Given the description of an element on the screen output the (x, y) to click on. 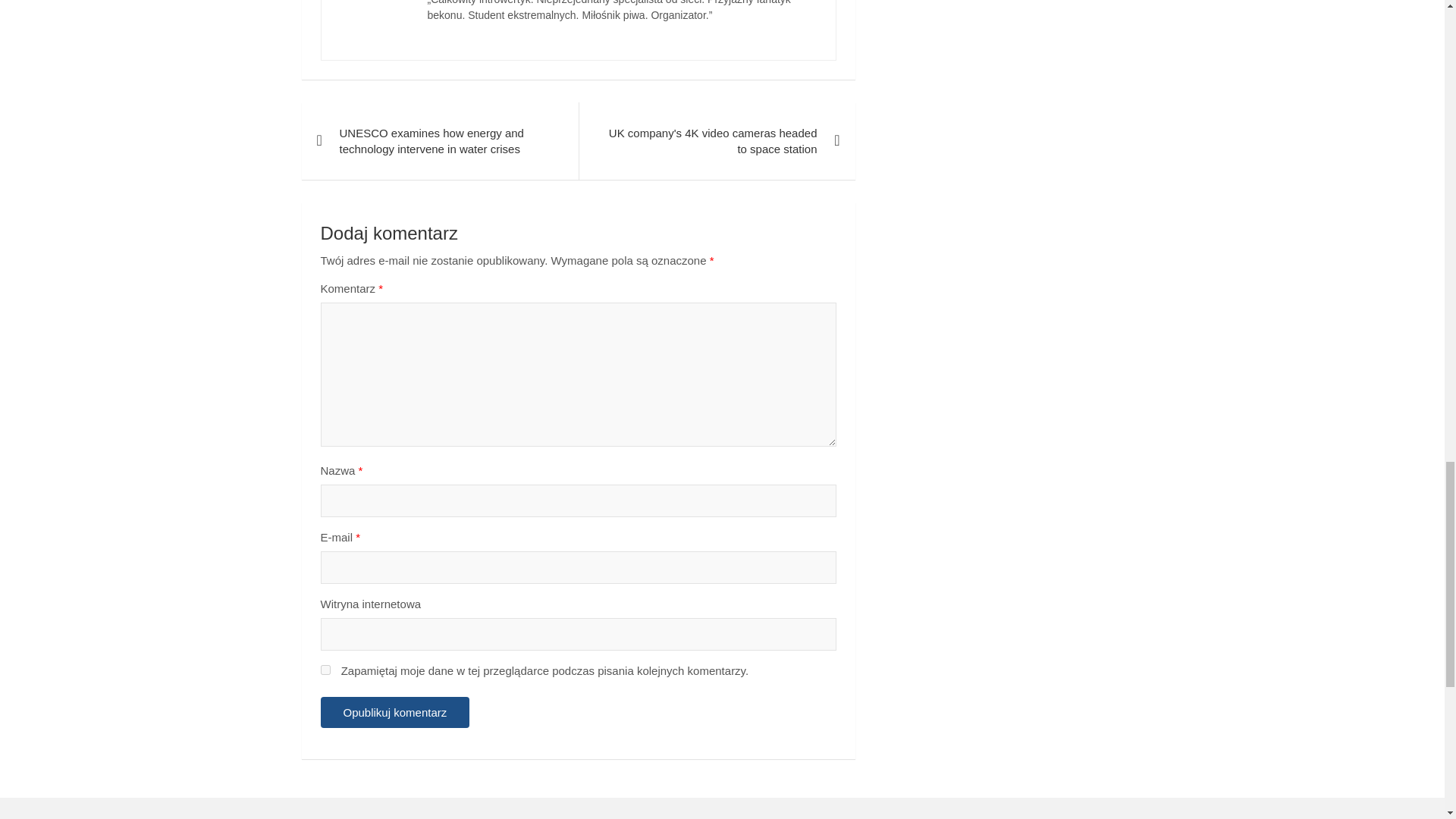
Opublikuj komentarz (394, 712)
UK company's 4K video cameras headed to space station (716, 140)
yes (325, 669)
Opublikuj komentarz (394, 712)
